Given the description of an element on the screen output the (x, y) to click on. 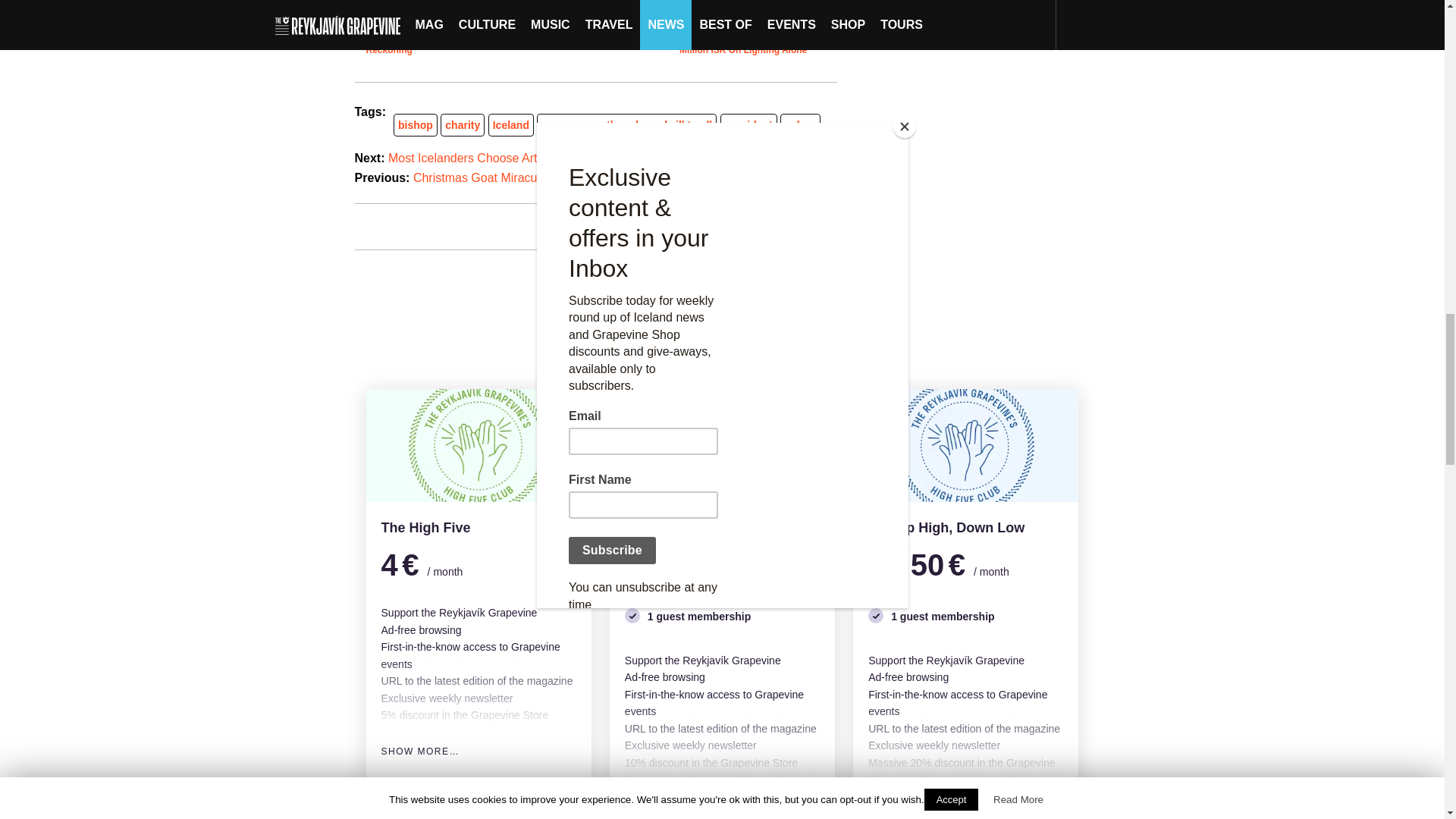
25 Million ISK Spent On EEA Report (599, 18)
